Given the description of an element on the screen output the (x, y) to click on. 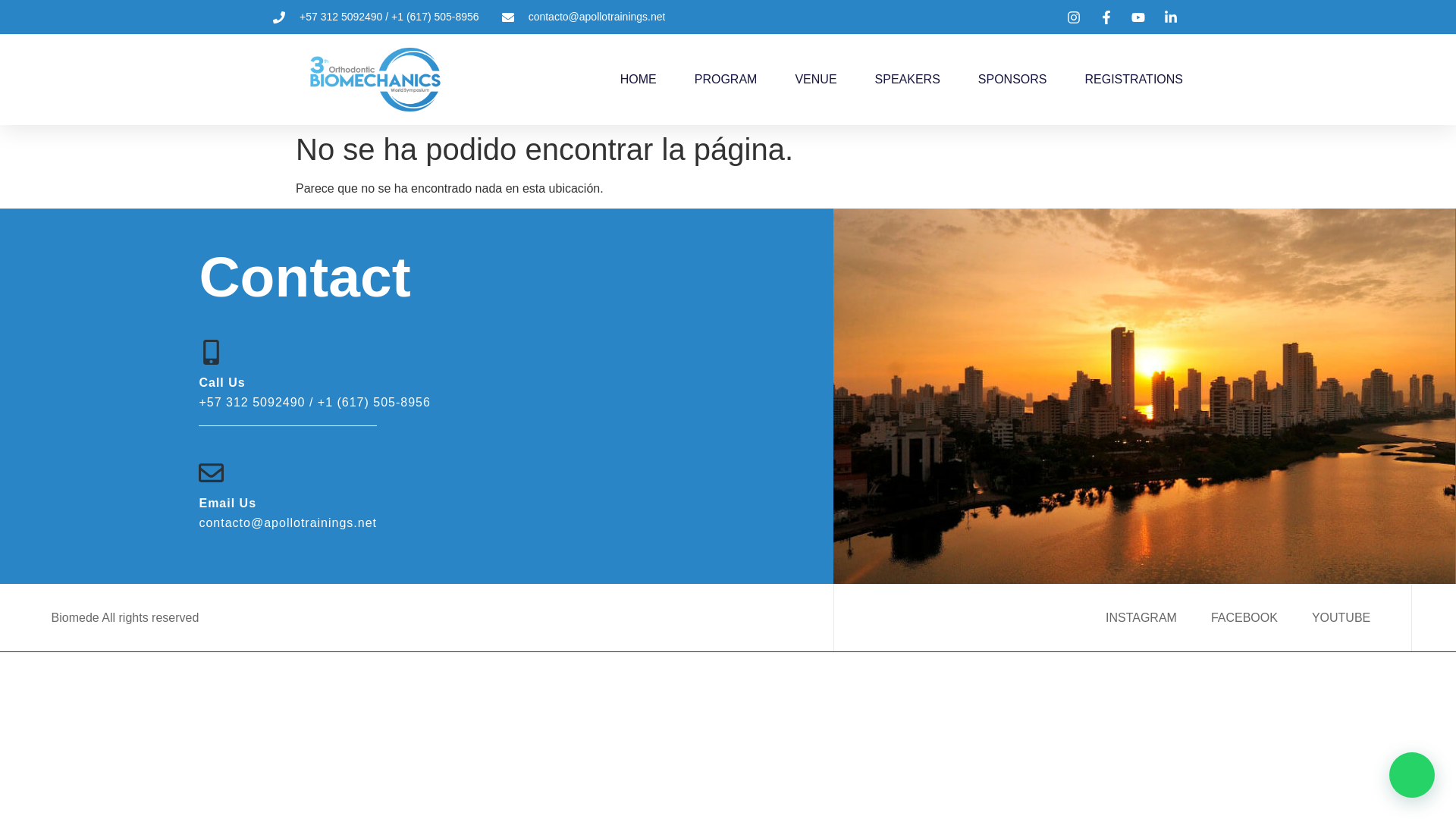
INSTAGRAM (1140, 618)
HOME (638, 79)
PROGRAM (725, 79)
SPEAKERS (907, 79)
SPONSORS (1012, 79)
YOUTUBE (1340, 618)
VENUE (814, 79)
FACEBOOK (1244, 618)
REGISTRATIONS (1133, 79)
